Given the description of an element on the screen output the (x, y) to click on. 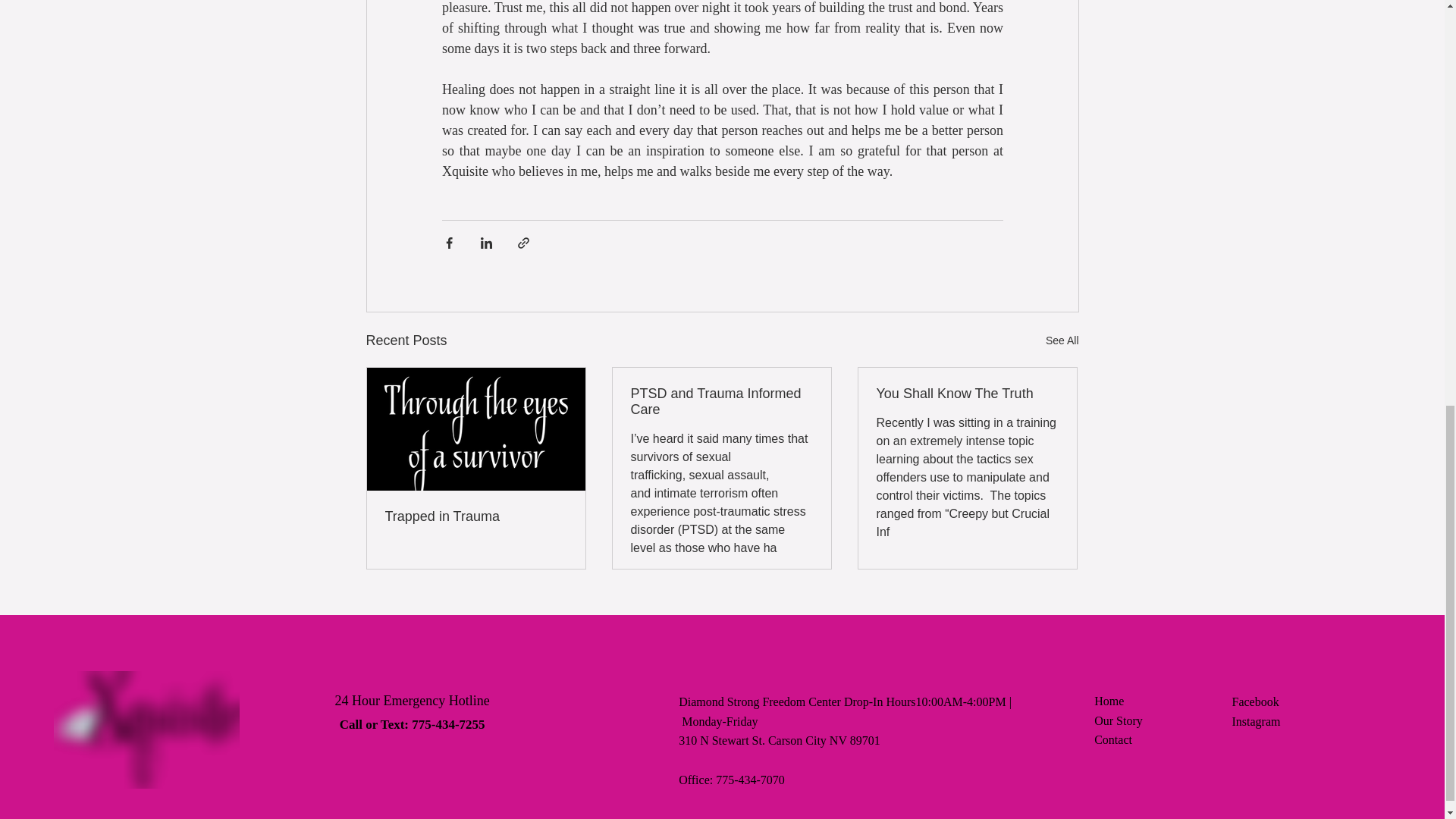
Home (1109, 700)
You Shall Know The Truth (967, 393)
See All (1061, 341)
Trapped in Trauma (476, 516)
Instagram (1255, 721)
Facebook (1254, 701)
PTSD and Trauma Informed Care  (721, 401)
Contact (1113, 739)
